Given the description of an element on the screen output the (x, y) to click on. 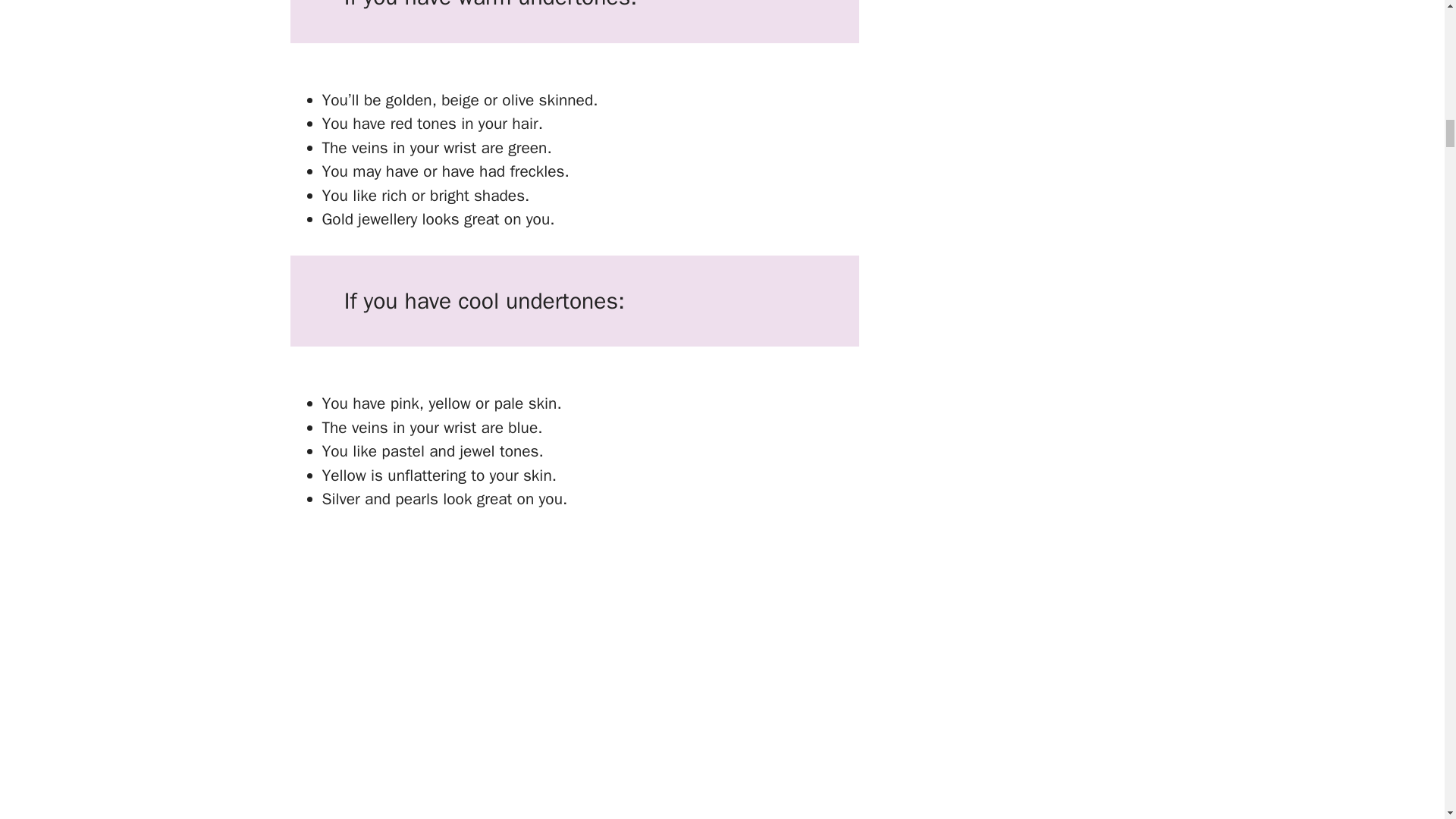
8 Best On-Trend Hair Colors For Blue Eyes In 2024. 2 (493, 677)
